Given the description of an element on the screen output the (x, y) to click on. 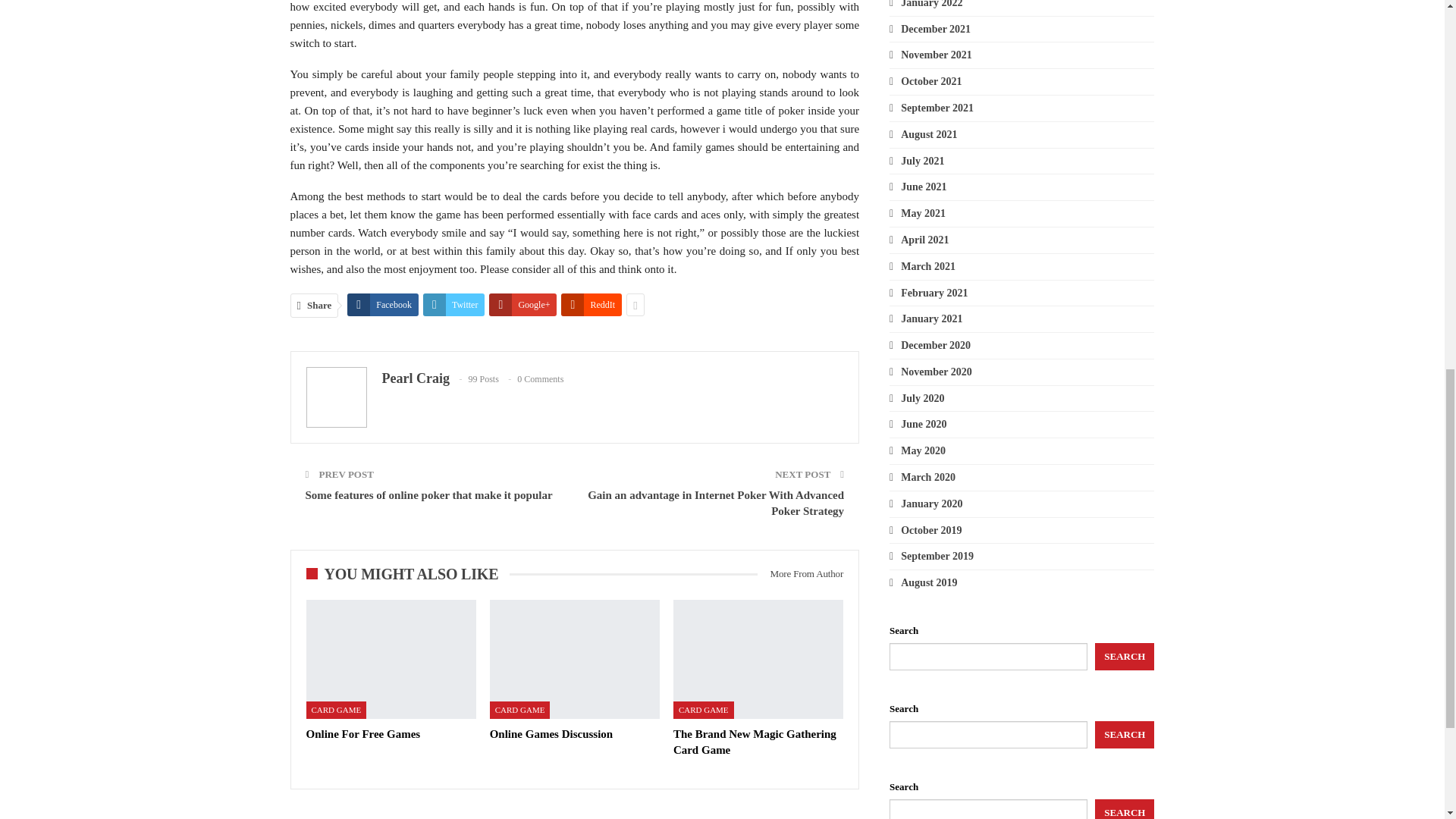
ReddIt (590, 304)
Twitter (453, 304)
Online Games Discussion (550, 734)
The Brand New Magic Gathering Card Game (753, 741)
Facebook (383, 304)
Online Games Discussion (574, 659)
Online For Free Games (390, 659)
The Brand New Magic Gathering Card Game (757, 659)
Online For Free Games (362, 734)
